Given the description of an element on the screen output the (x, y) to click on. 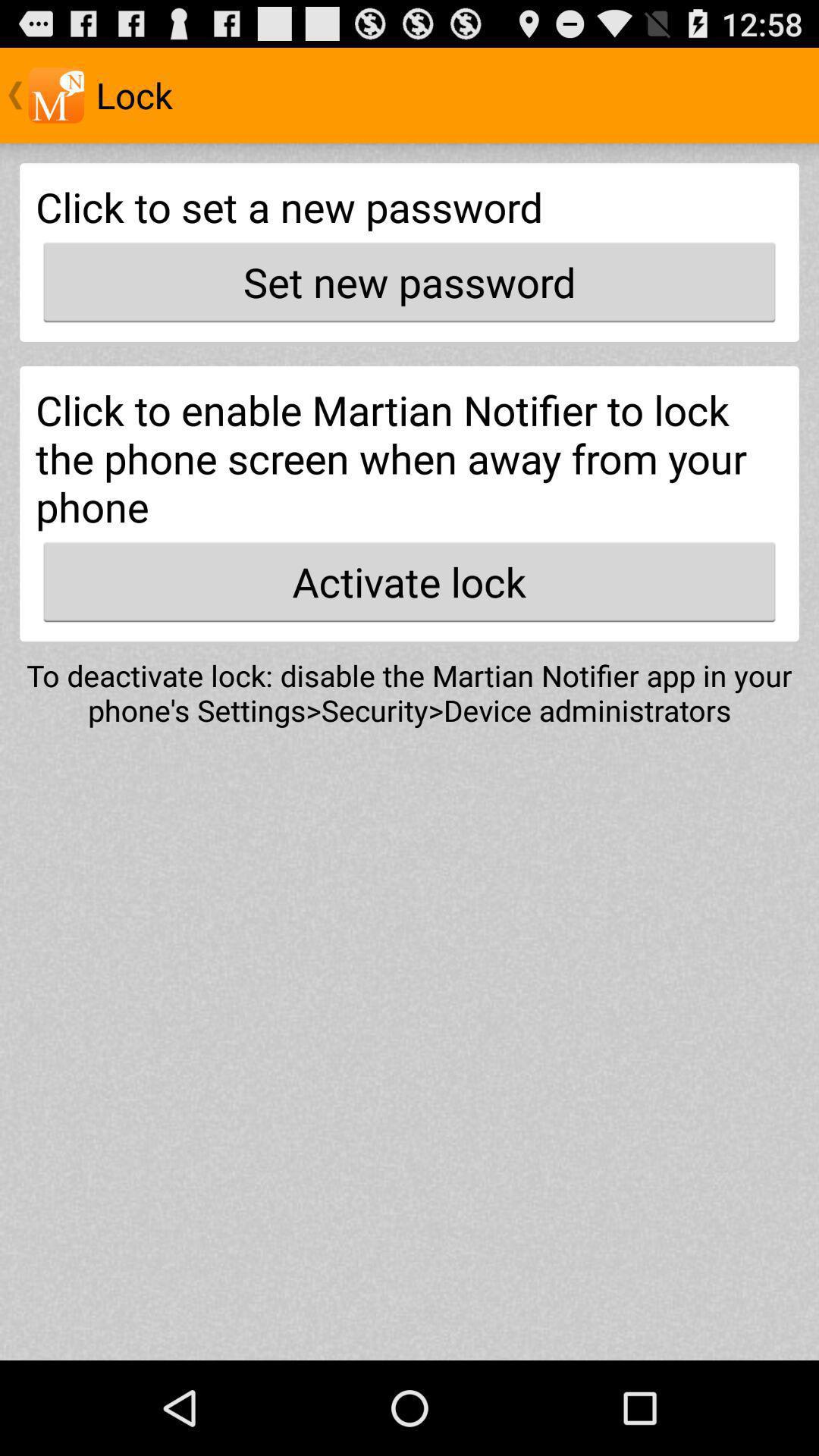
select the app below click to enable app (409, 581)
